Given the description of an element on the screen output the (x, y) to click on. 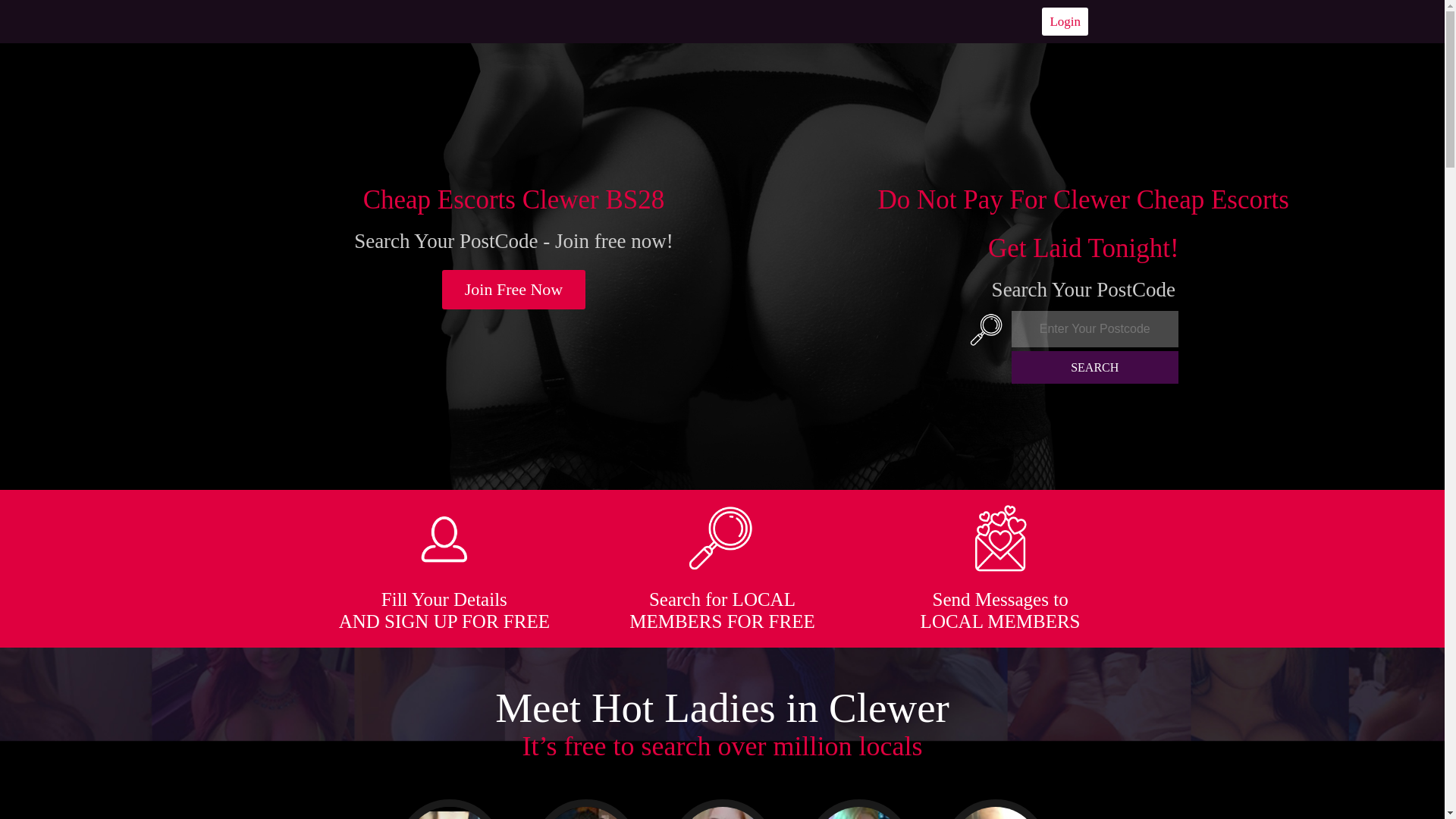
Login (1064, 21)
Join (514, 289)
SEARCH (1094, 367)
Login (1064, 21)
Join Free Now (514, 289)
